Given the description of an element on the screen output the (x, y) to click on. 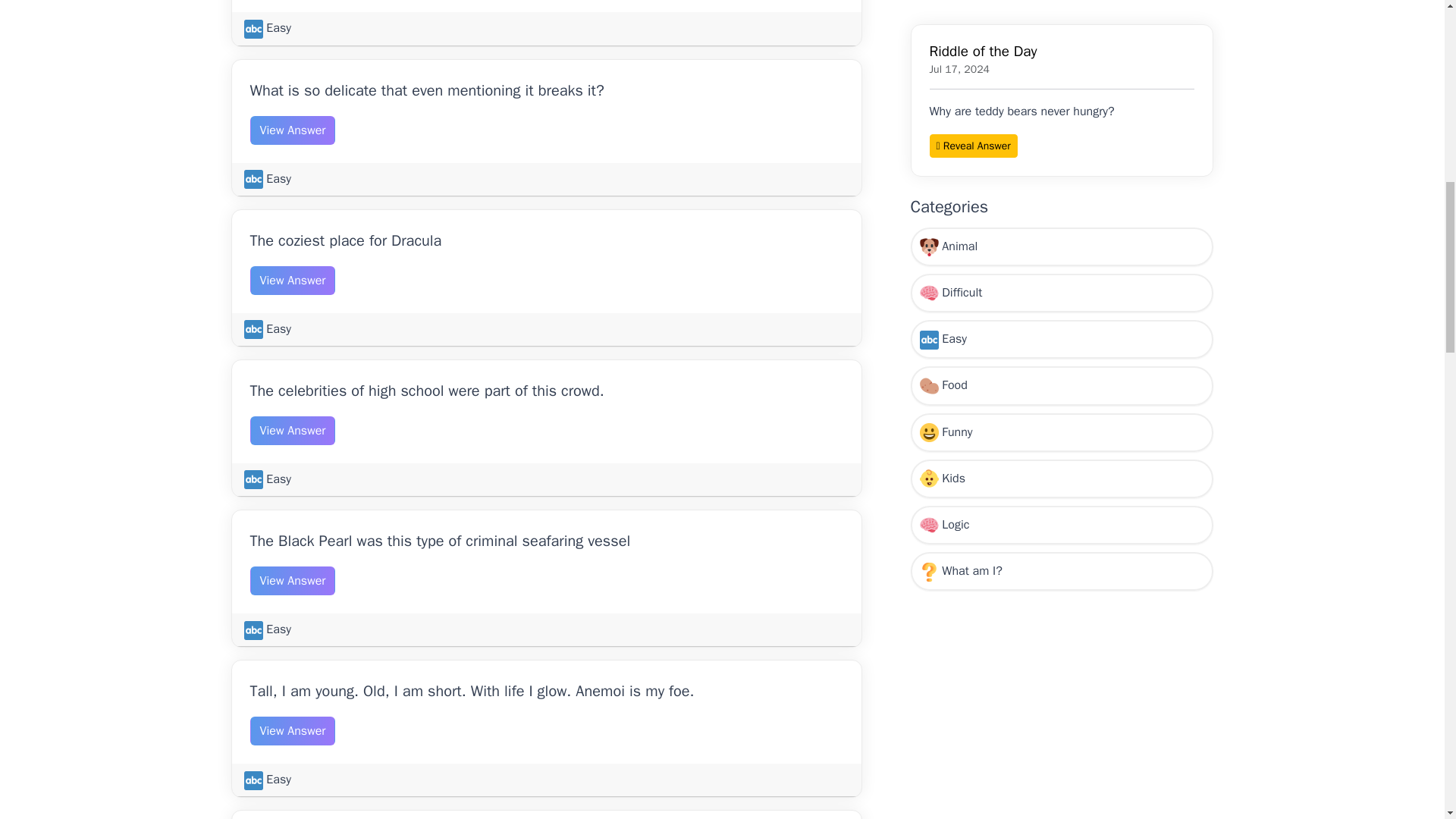
Easy (267, 28)
Easy (267, 629)
The Black Pearl was this type of criminal seafaring vessel (440, 540)
Easy (267, 178)
Easy (267, 779)
Easy (267, 478)
The coziest place for Dracula (346, 240)
Easy (267, 328)
View Answer (293, 430)
View Answer (293, 730)
View Answer (293, 129)
The celebrities of high school were part of this crowd. (427, 390)
What is so delicate that even mentioning it breaks it? (427, 89)
View Answer (293, 580)
